Given the description of an element on the screen output the (x, y) to click on. 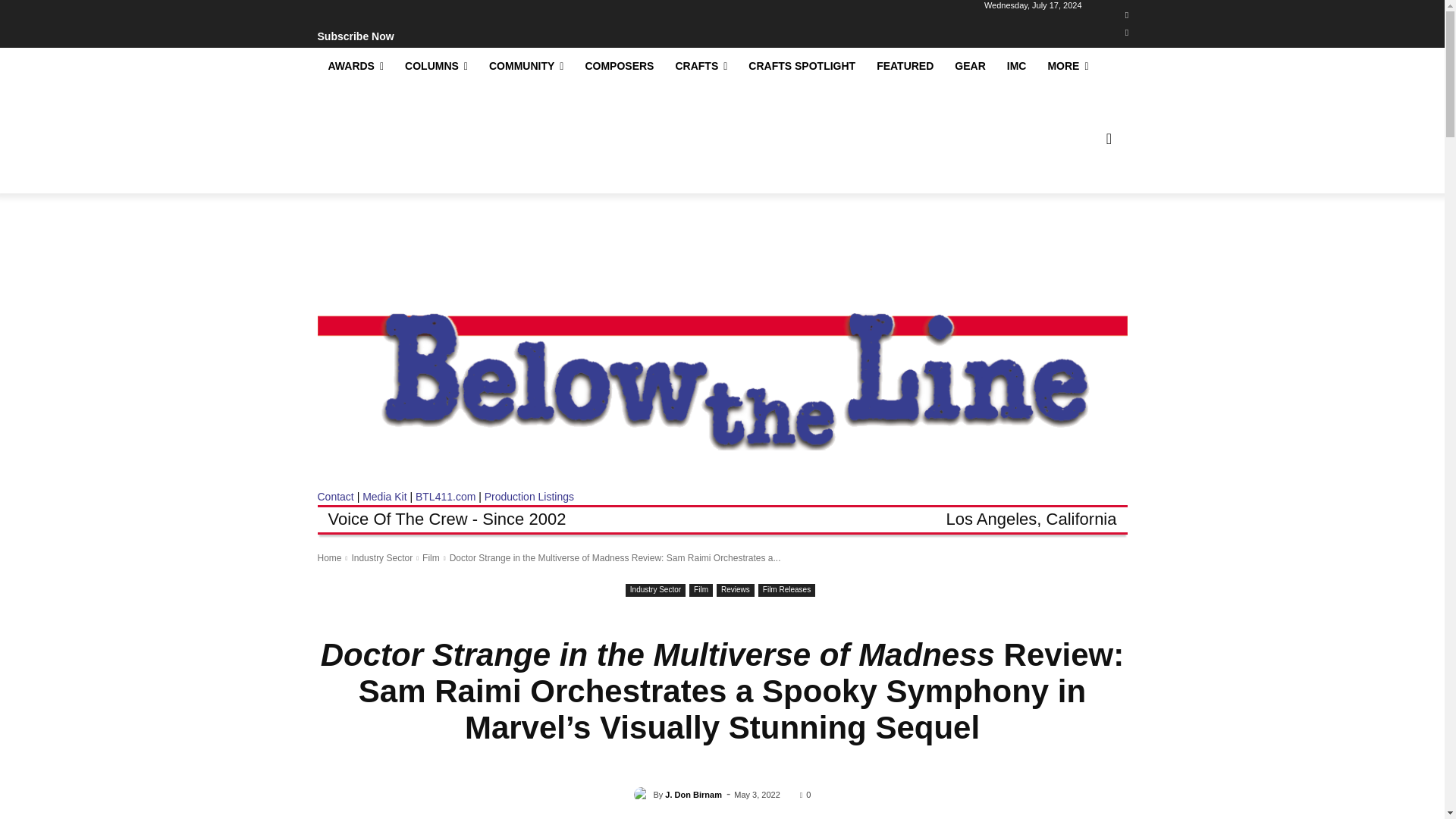
View all posts in Industry Sector (381, 557)
Facebook (1126, 15)
J. Don Birnam (643, 794)
Twitter (1126, 32)
View all posts in Film (430, 557)
